Given the description of an element on the screen output the (x, y) to click on. 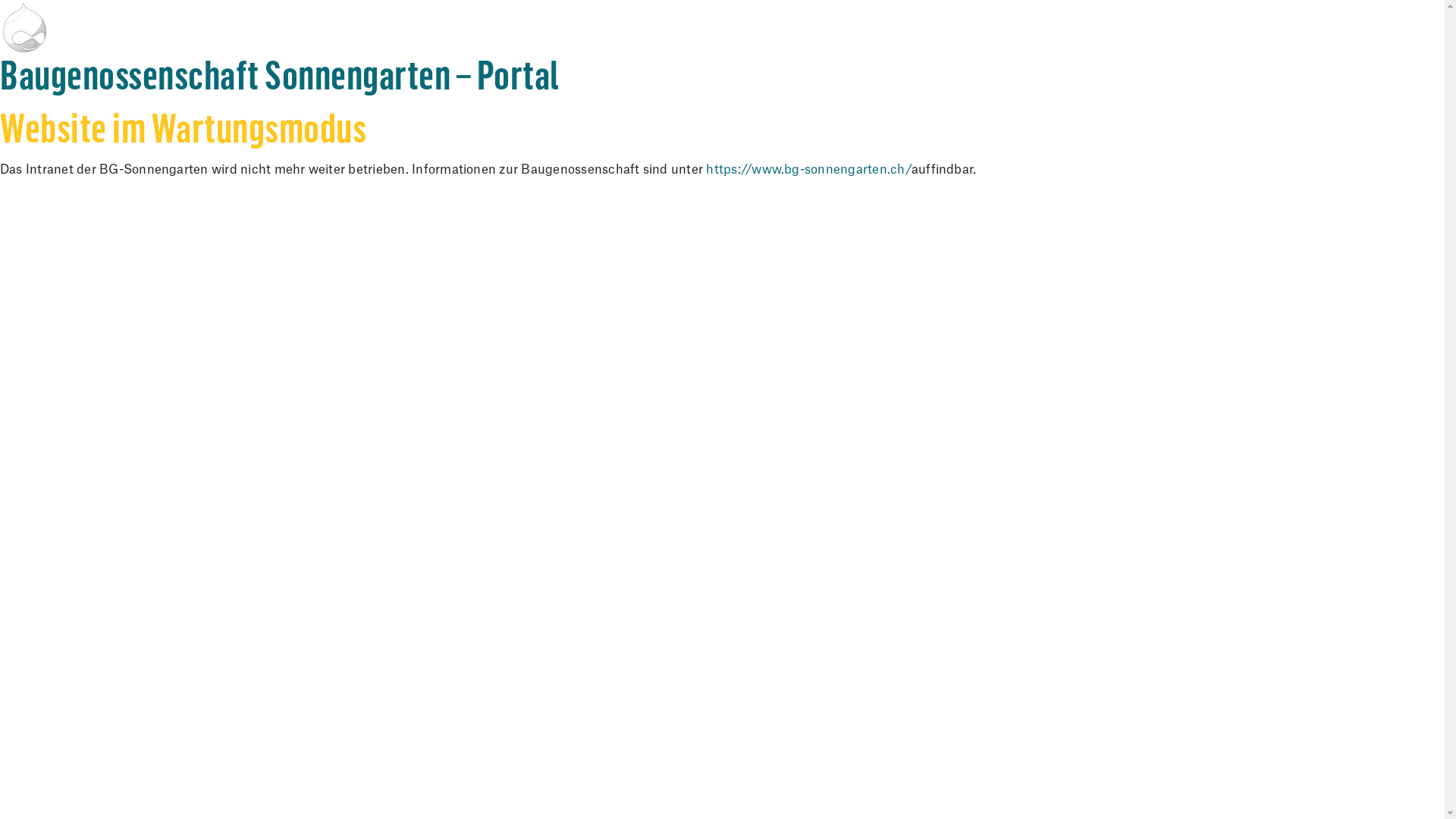
https://www.bg-sonnengarten.ch/ Element type: text (808, 169)
Startseite Element type: hover (722, 27)
